Given the description of an element on the screen output the (x, y) to click on. 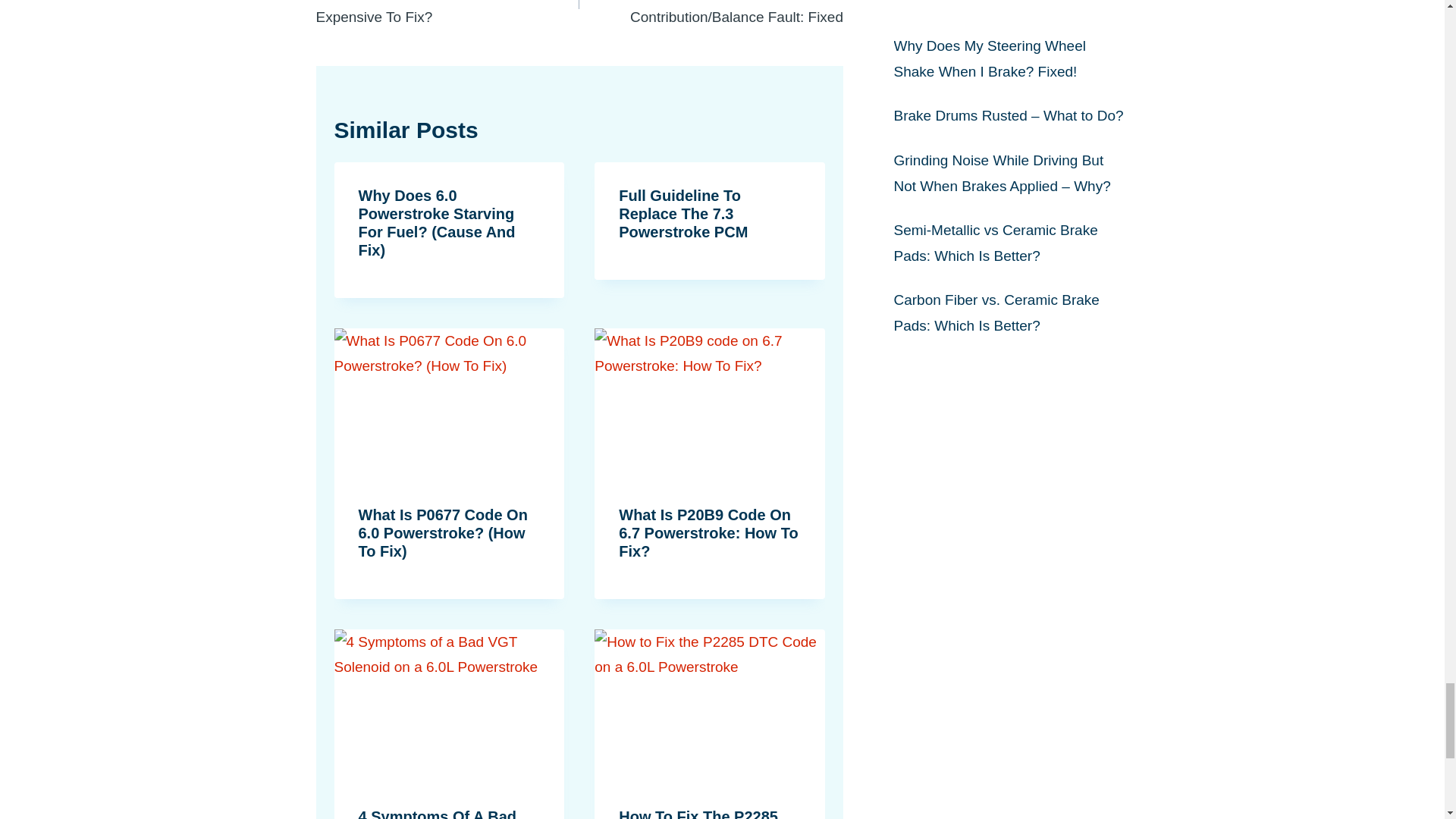
What Is P20B9 Code On 6.7 Powerstroke: How To Fix? (707, 532)
How To Fix The P2285 DTC Code On A 6.0L Powerstroke (697, 813)
4 Symptoms Of A Bad VGT Solenoid On A 6.0L Powerstroke (444, 813)
Full Guideline To Replace The 7.3 Powerstroke PCM (683, 213)
